Given the description of an element on the screen output the (x, y) to click on. 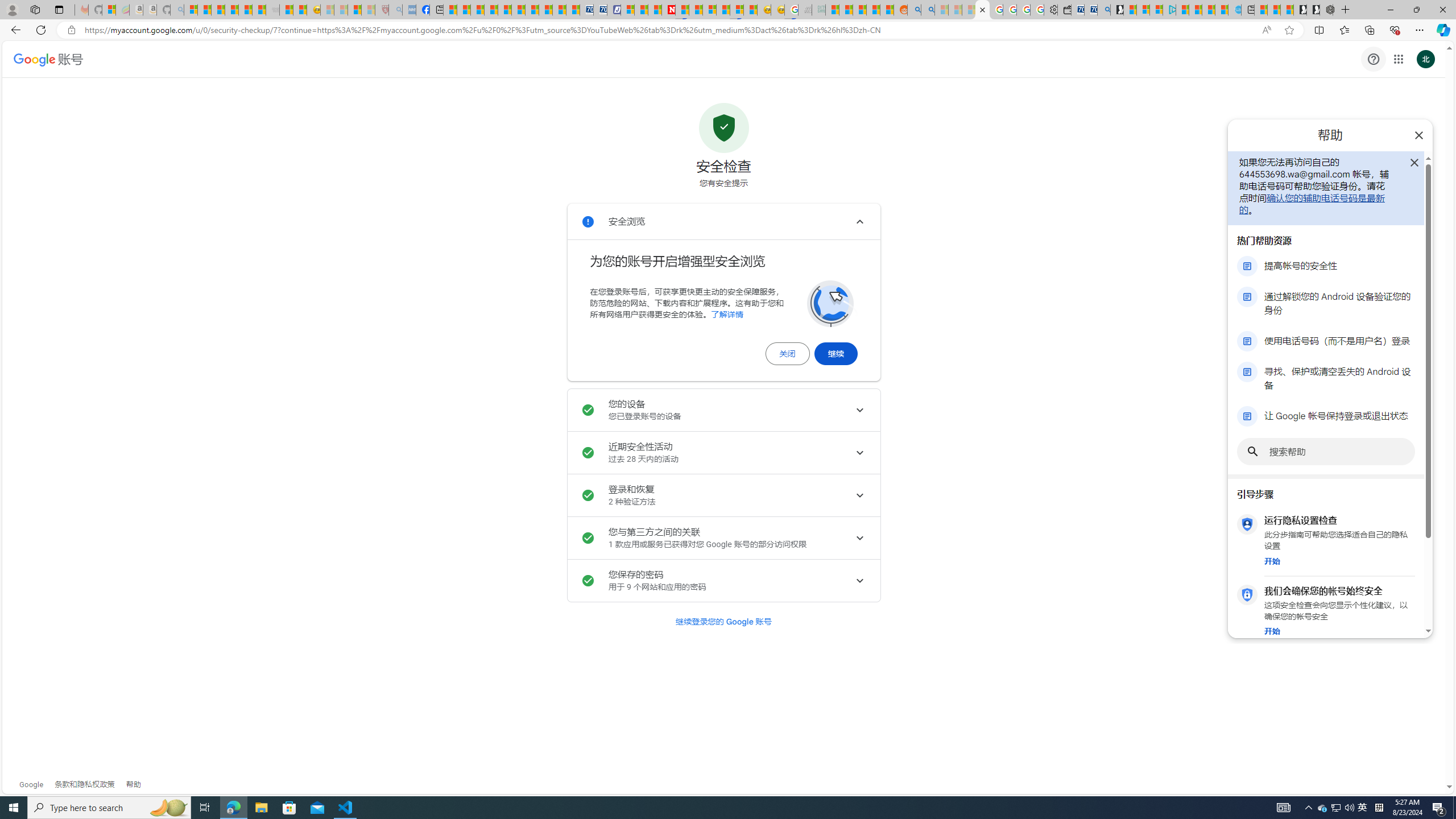
Newsweek - News, Analysis, Politics, Business, Technology (667, 9)
Bing Real Estate - Home sales and rental listings (1103, 9)
